Given the description of an element on the screen output the (x, y) to click on. 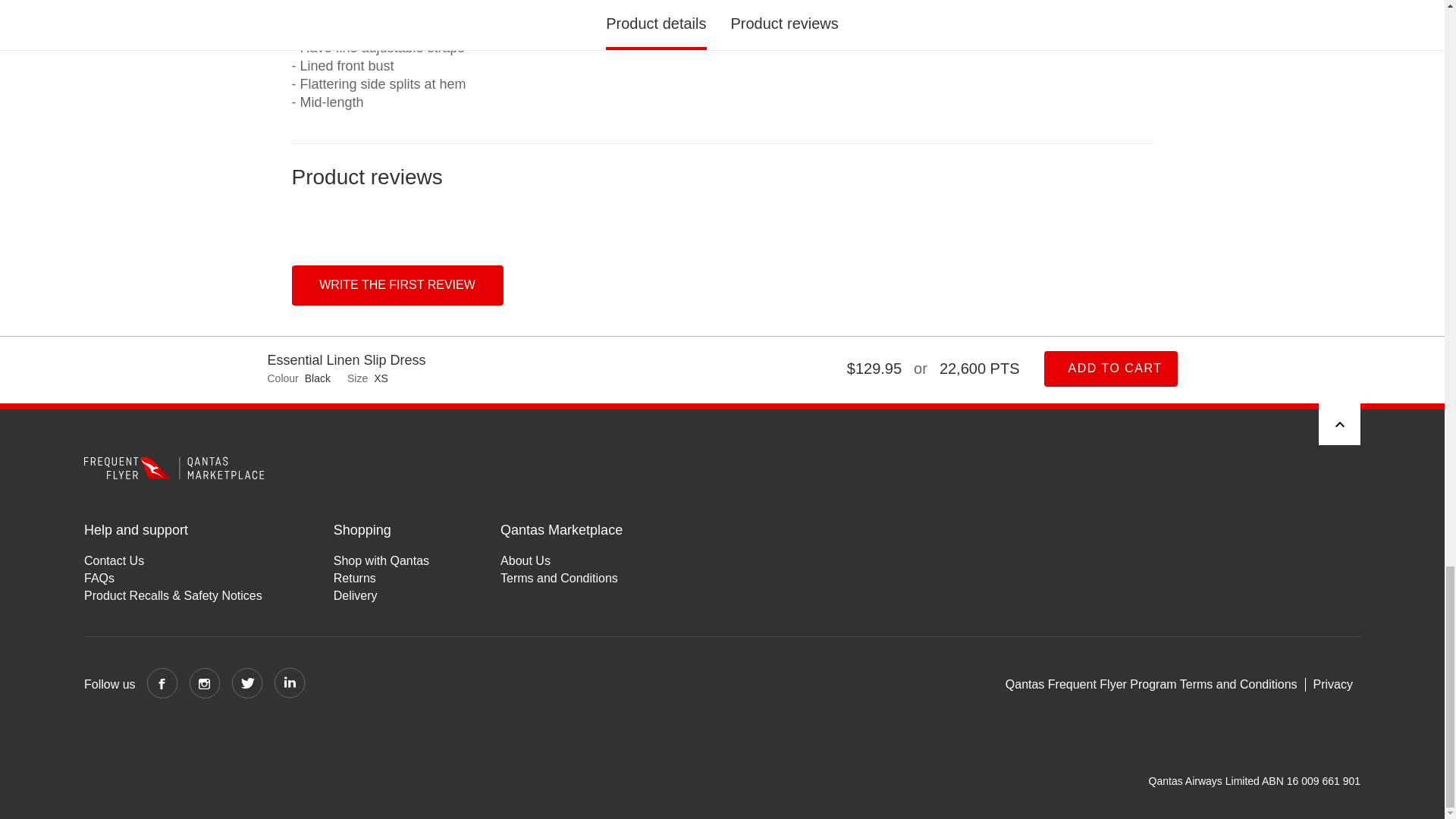
Product details (722, 72)
